Given the description of an element on the screen output the (x, y) to click on. 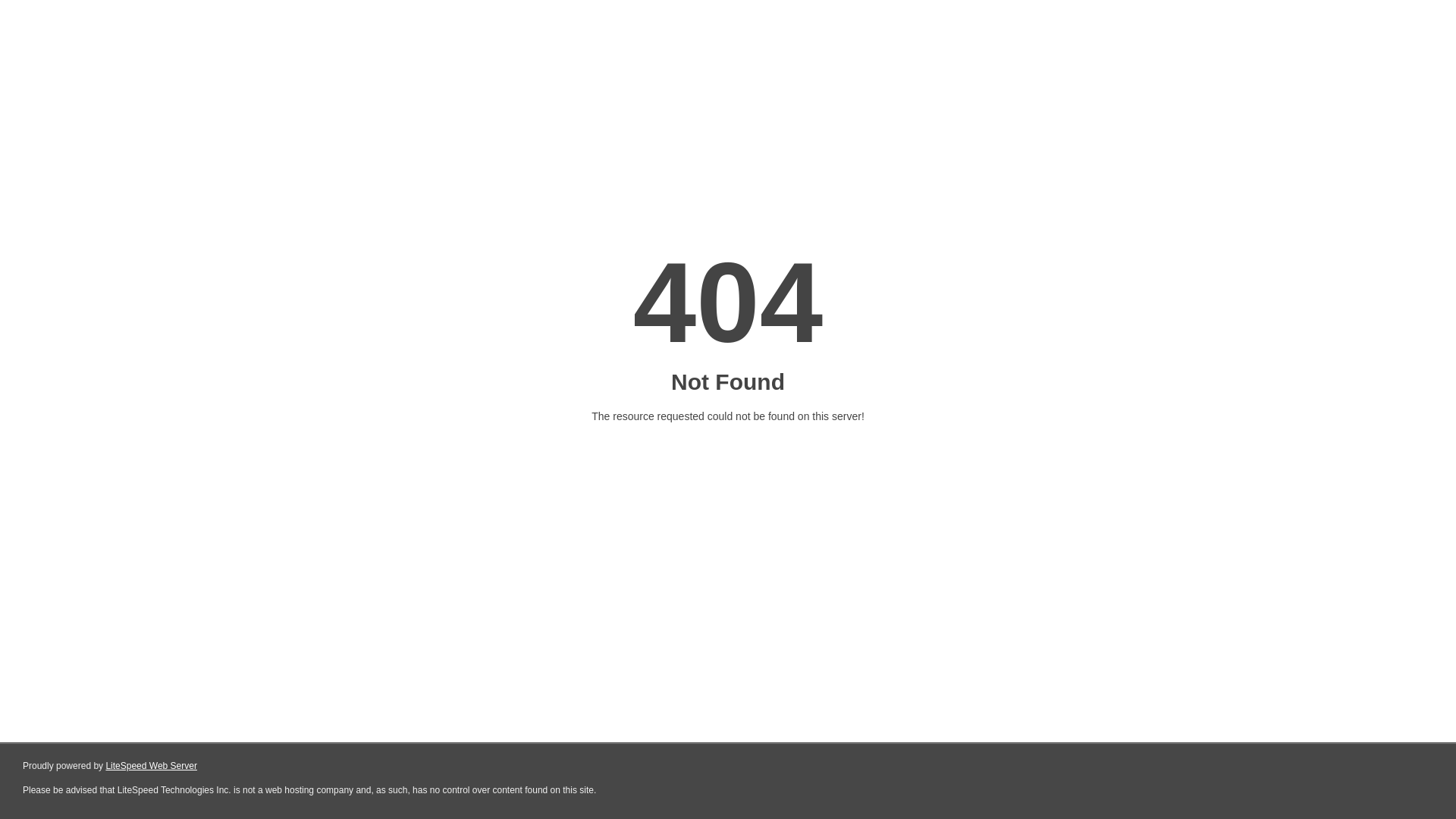
LiteSpeed Web Server Element type: text (151, 765)
